Given the description of an element on the screen output the (x, y) to click on. 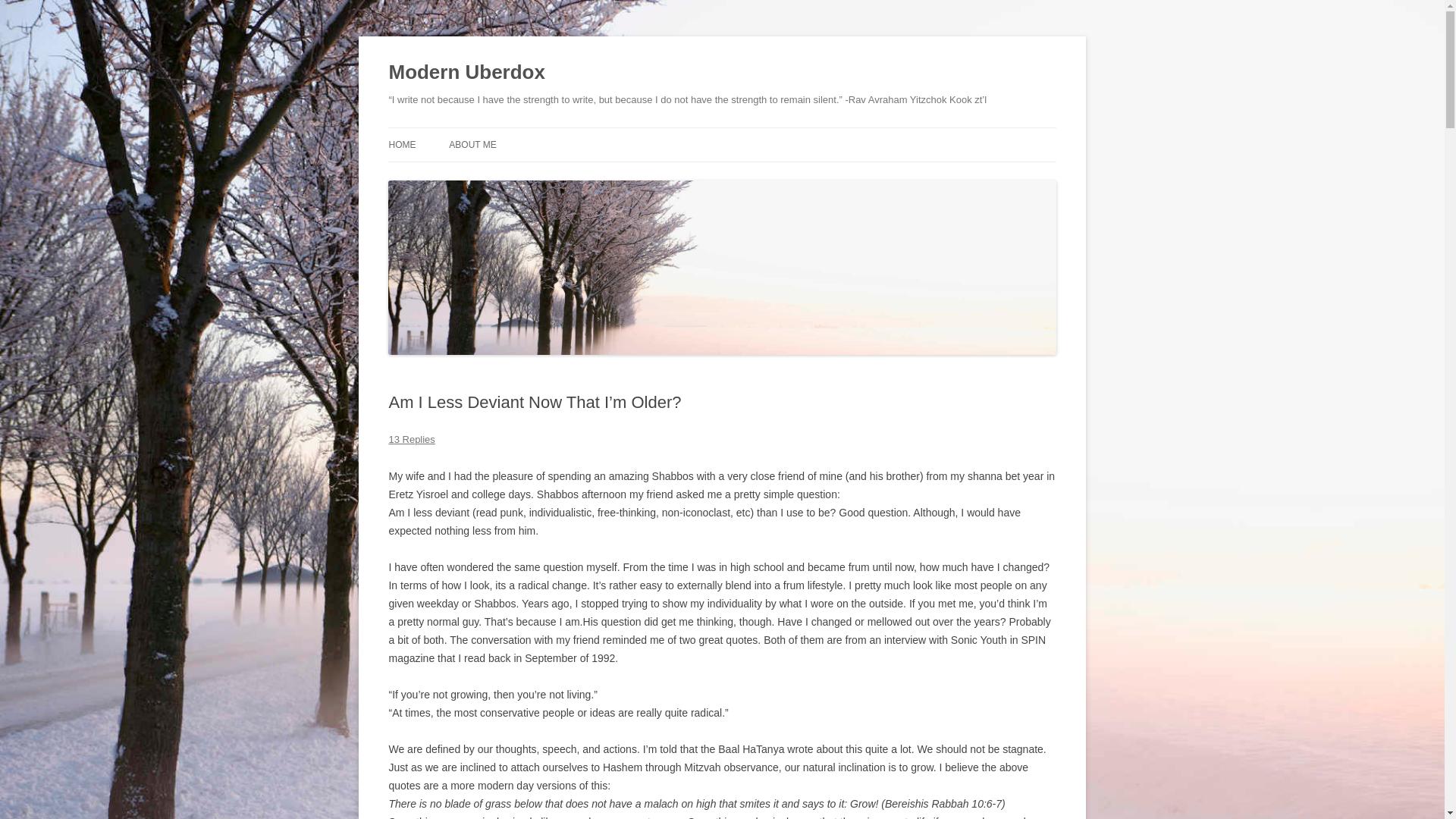
13 Replies (410, 439)
Modern Uberdox (466, 72)
ABOUT ME (472, 144)
